Given the description of an element on the screen output the (x, y) to click on. 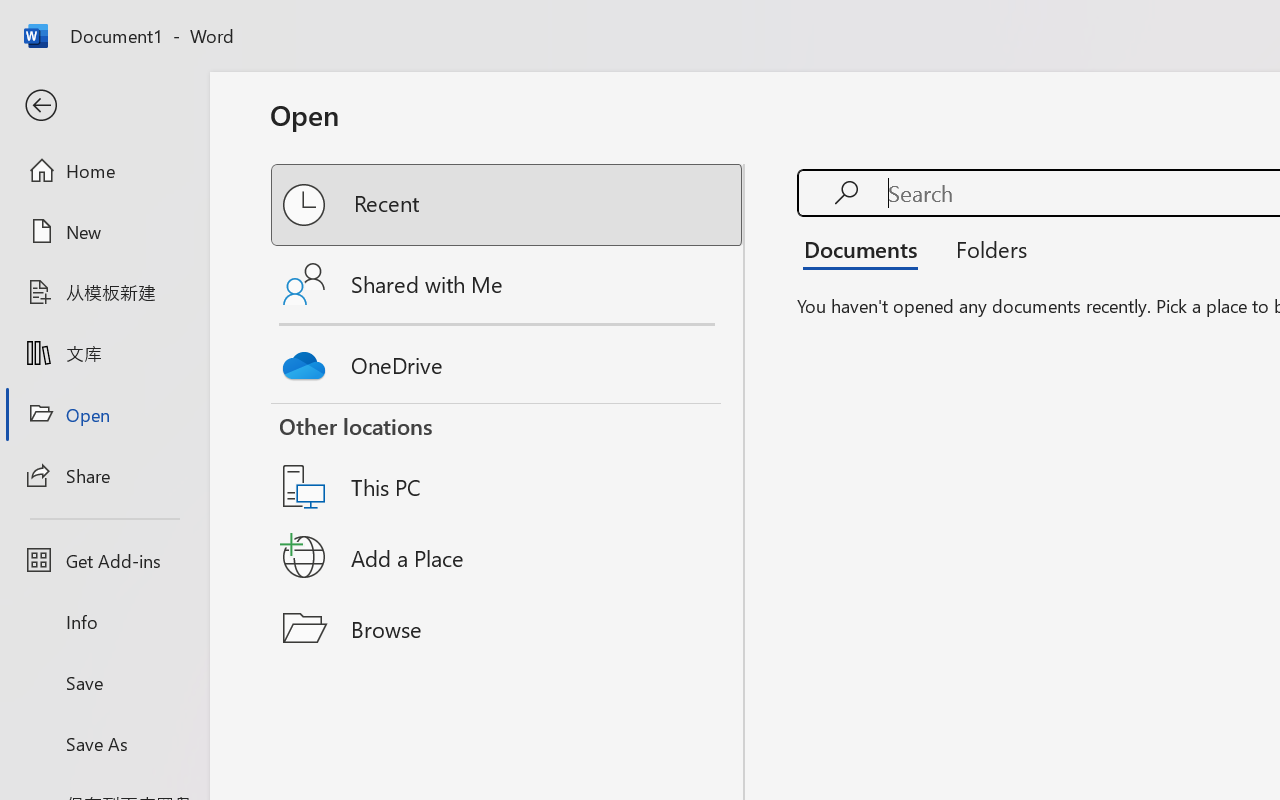
OneDrive (507, 359)
Save As (104, 743)
Back (104, 106)
Shared with Me (507, 283)
Get Add-ins (104, 560)
